Given the description of an element on the screen output the (x, y) to click on. 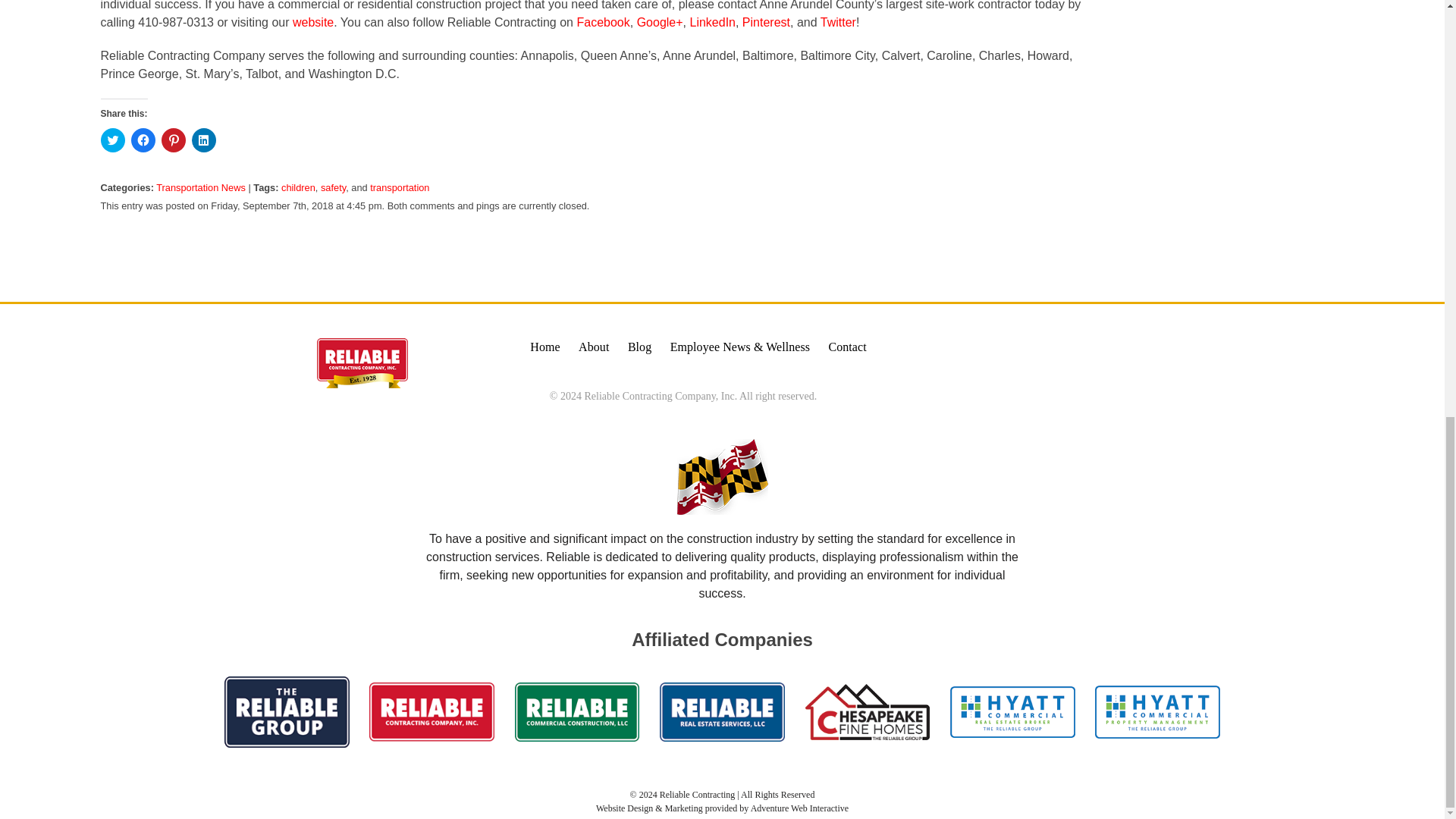
Click to share on Facebook (142, 139)
Click to share on Twitter (111, 139)
Maryland Flag (722, 476)
Click to share on LinkedIn (202, 139)
Click to share on Pinterest (172, 139)
Reliable Contracting Company, Inc. Logo (362, 363)
